Given the description of an element on the screen output the (x, y) to click on. 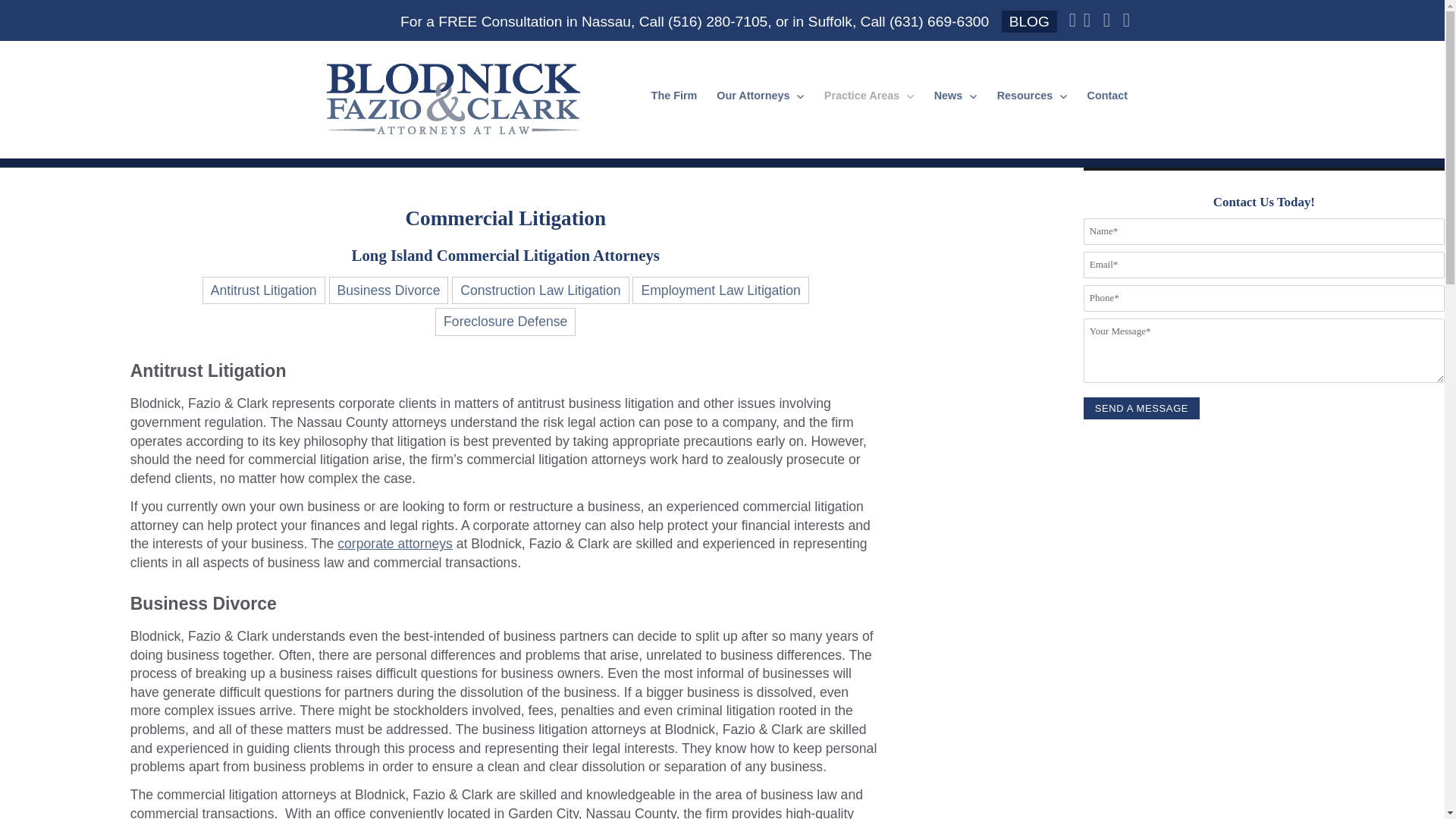
Practice Areas (868, 80)
The Firm (674, 80)
BLOG (1029, 22)
Our Attorneys (759, 80)
Send a Message (1141, 408)
